Given the description of an element on the screen output the (x, y) to click on. 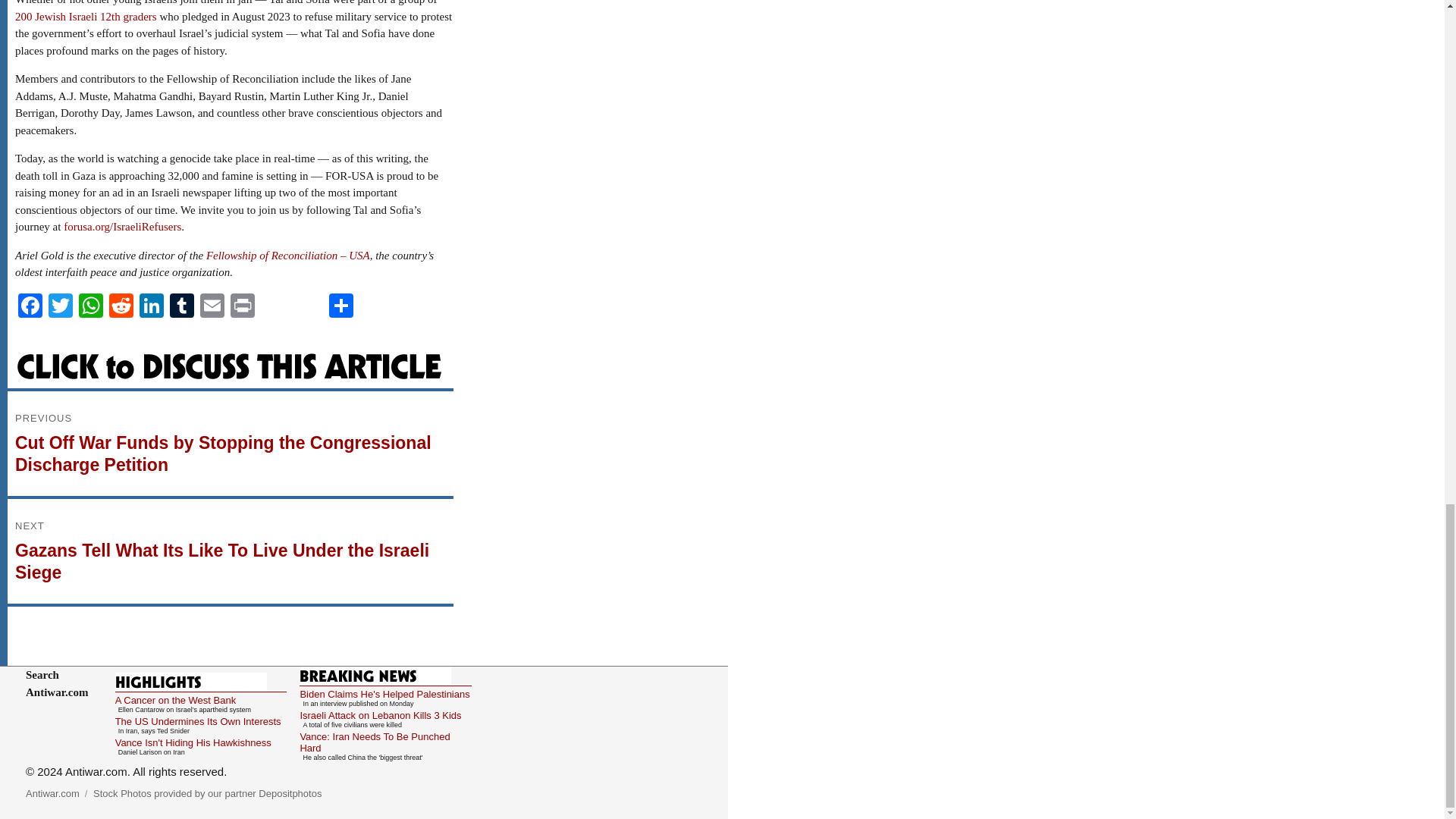
200 Jewish Israeli 12th graders (85, 16)
